Given the description of an element on the screen output the (x, y) to click on. 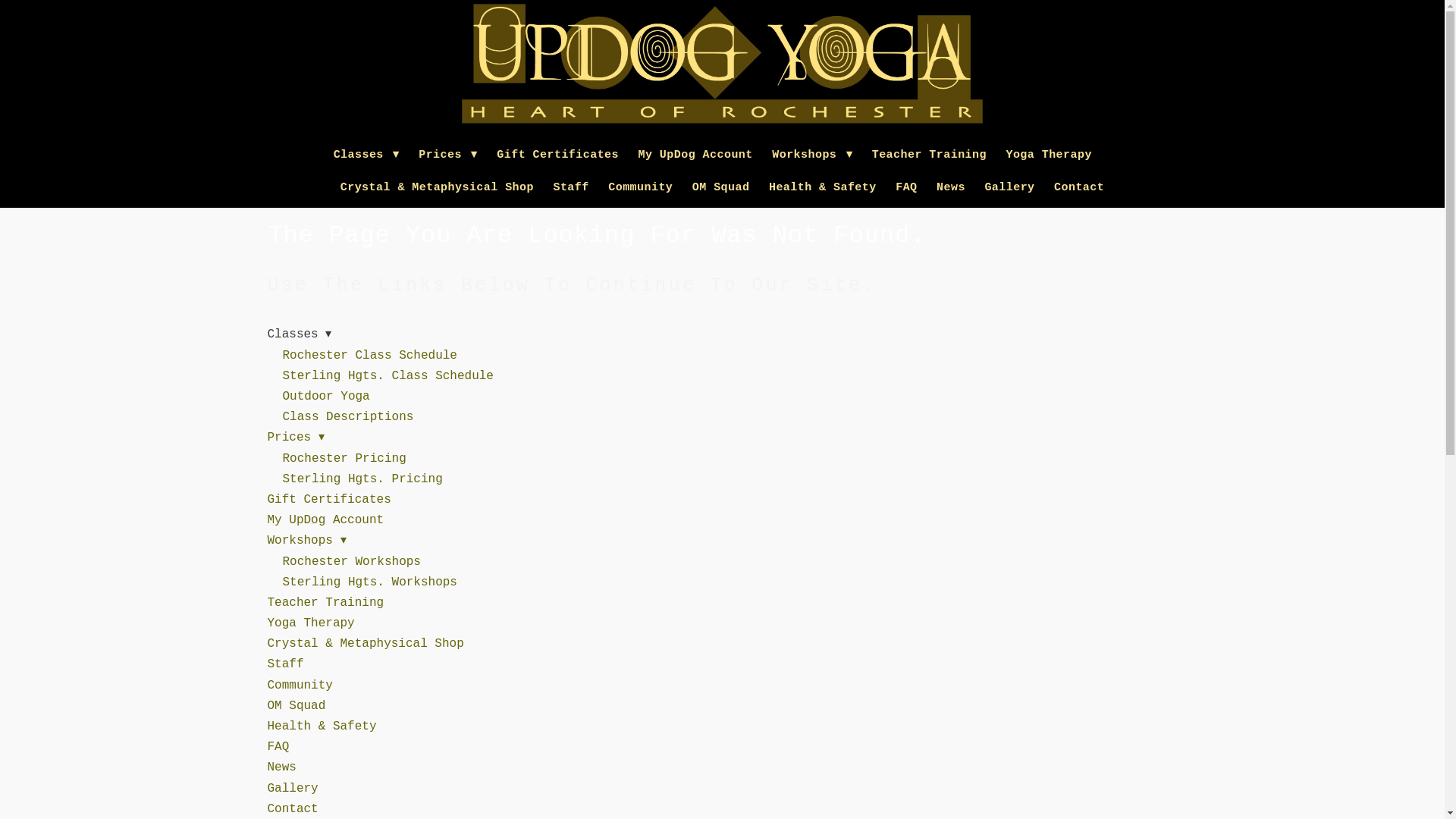
Contact (1078, 187)
My UpDog Account (325, 520)
Staff (570, 187)
Teacher Training (325, 602)
Community (640, 187)
Gift Certificates (328, 499)
Yoga Therapy (1048, 154)
My UpDog Account (695, 154)
Outdoor Yoga (325, 396)
Gift Certificates (557, 154)
Rochester Workshops (351, 561)
Class Descriptions (347, 417)
Gallery (1008, 187)
Sterling Hgts. Class Schedule (387, 376)
OM Squad (721, 187)
